Given the description of an element on the screen output the (x, y) to click on. 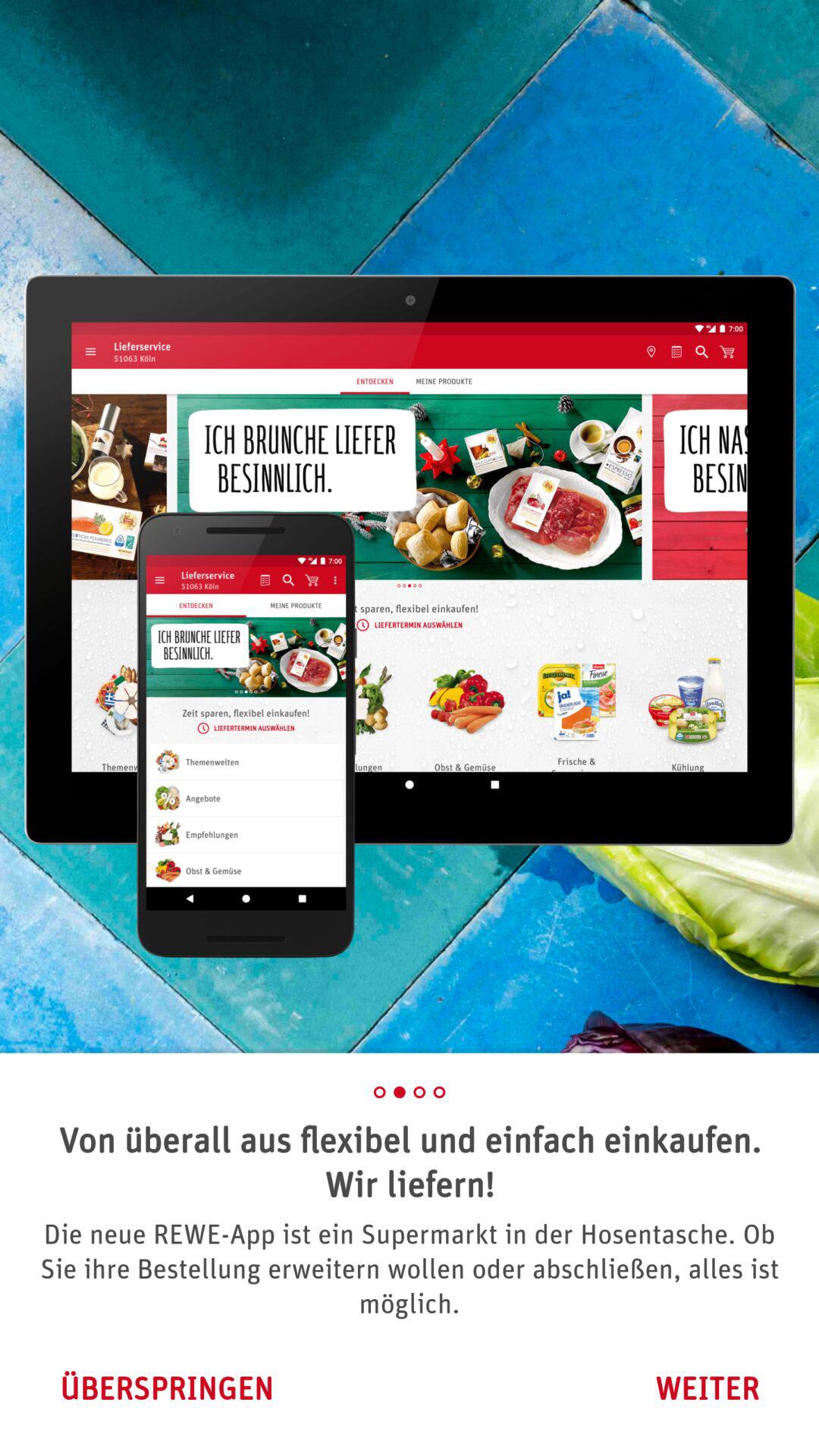
click icon next to the weiter (166, 1388)
